Given the description of an element on the screen output the (x, y) to click on. 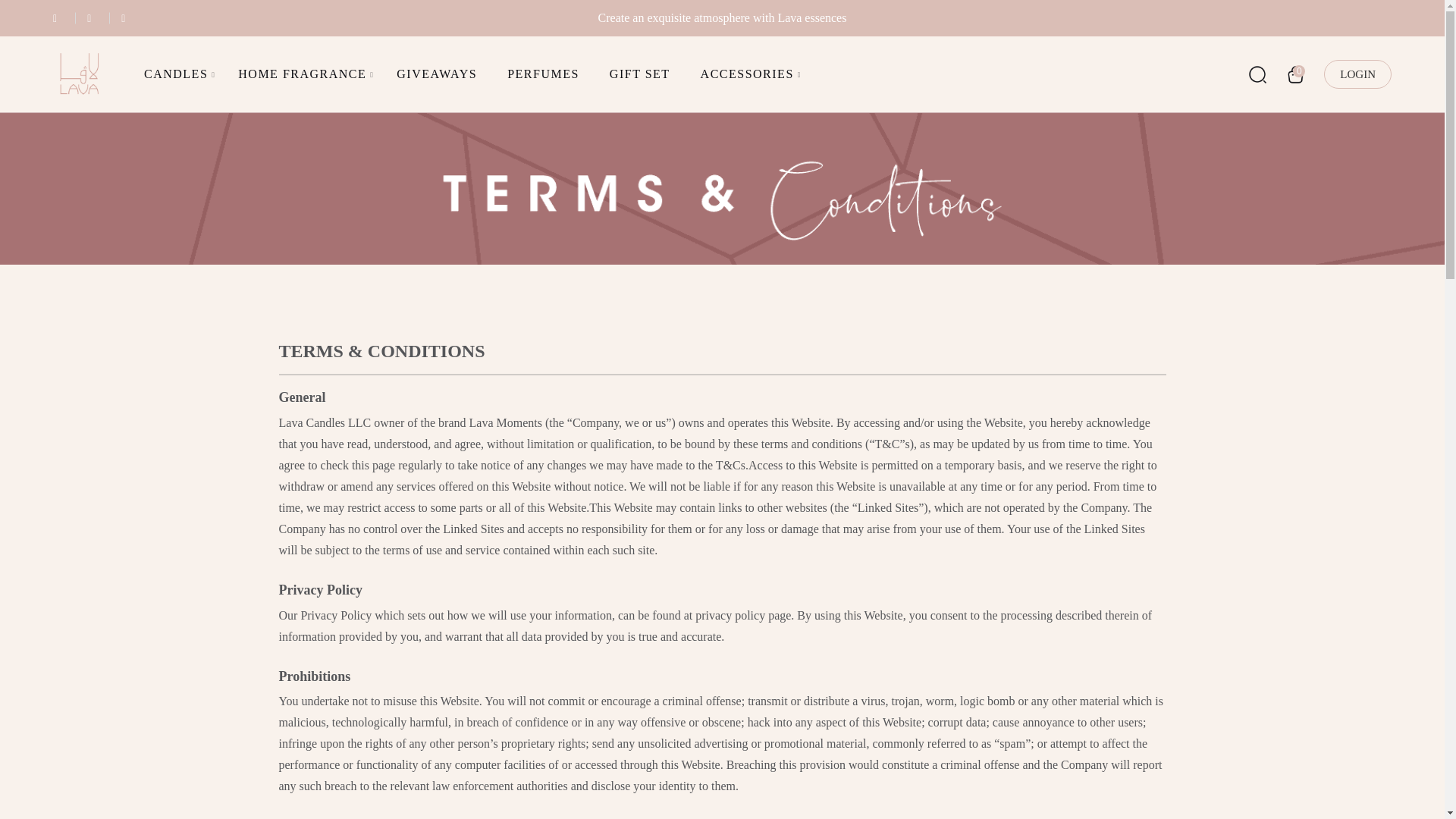
0 (1294, 74)
CANDLES (175, 74)
PERFUMES (543, 74)
ACCESSORIES (747, 74)
GIFT SET (639, 74)
GIVEAWAYS (436, 74)
LOGIN (1357, 74)
HOME FRAGRANCE (301, 74)
